Given the description of an element on the screen output the (x, y) to click on. 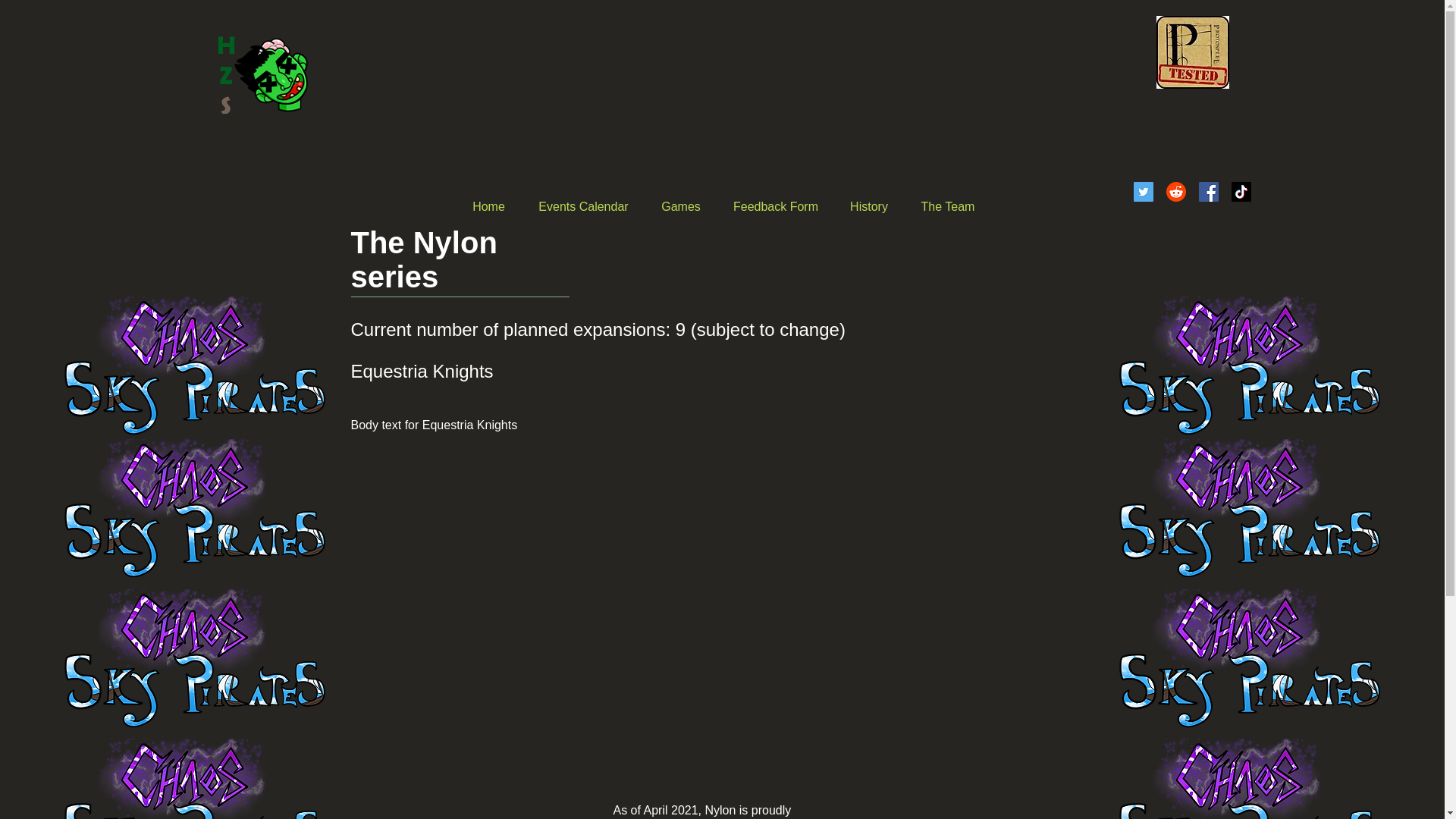
History (868, 207)
The Team (948, 207)
Chaos-Sky-Pirates.png (194, 778)
Feedback Form (775, 207)
Chaos-Sky-Pirates.png (194, 511)
Chaos-Sky-Pirates.png (194, 661)
Events Calendar (582, 207)
Chaos-Sky-Pirates.png (1249, 511)
Chaos-Sky-Pirates.png (194, 369)
Home (487, 207)
